Given the description of an element on the screen output the (x, y) to click on. 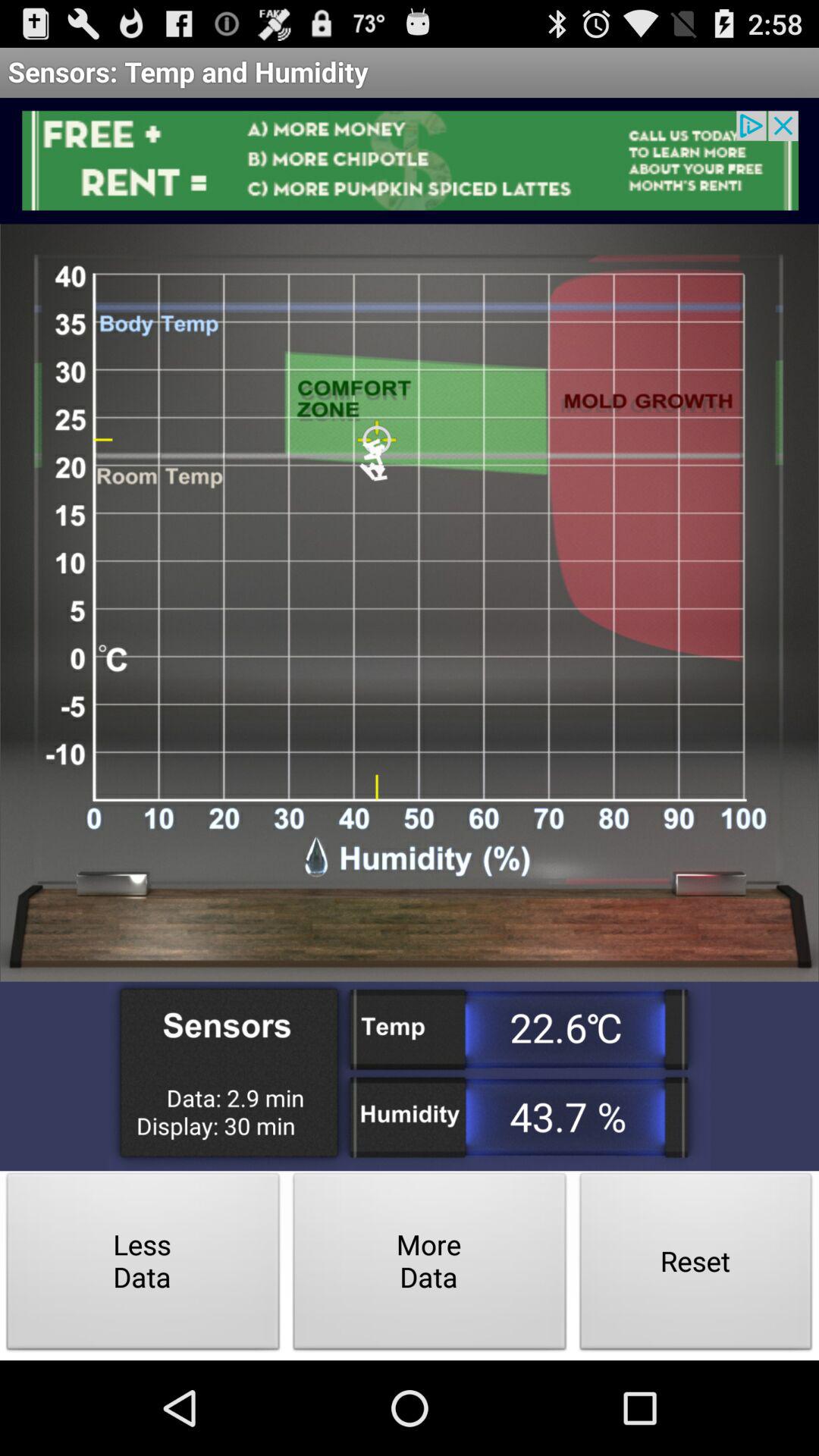
tap button at the bottom left corner (143, 1265)
